Given the description of an element on the screen output the (x, y) to click on. 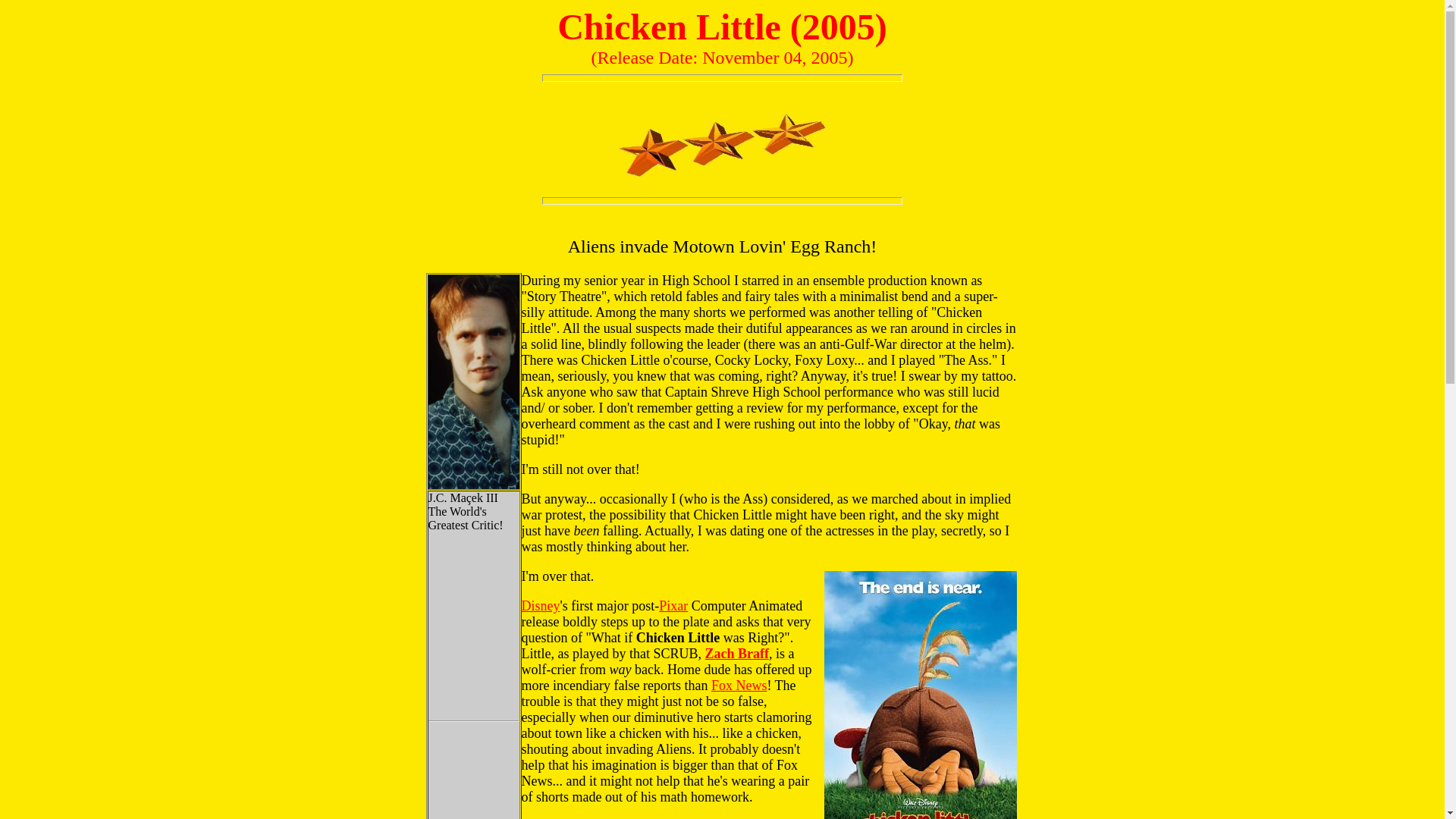
Zach Braff (736, 653)
Disney (540, 605)
Fox News (739, 685)
Pixar (673, 605)
